Given the description of an element on the screen output the (x, y) to click on. 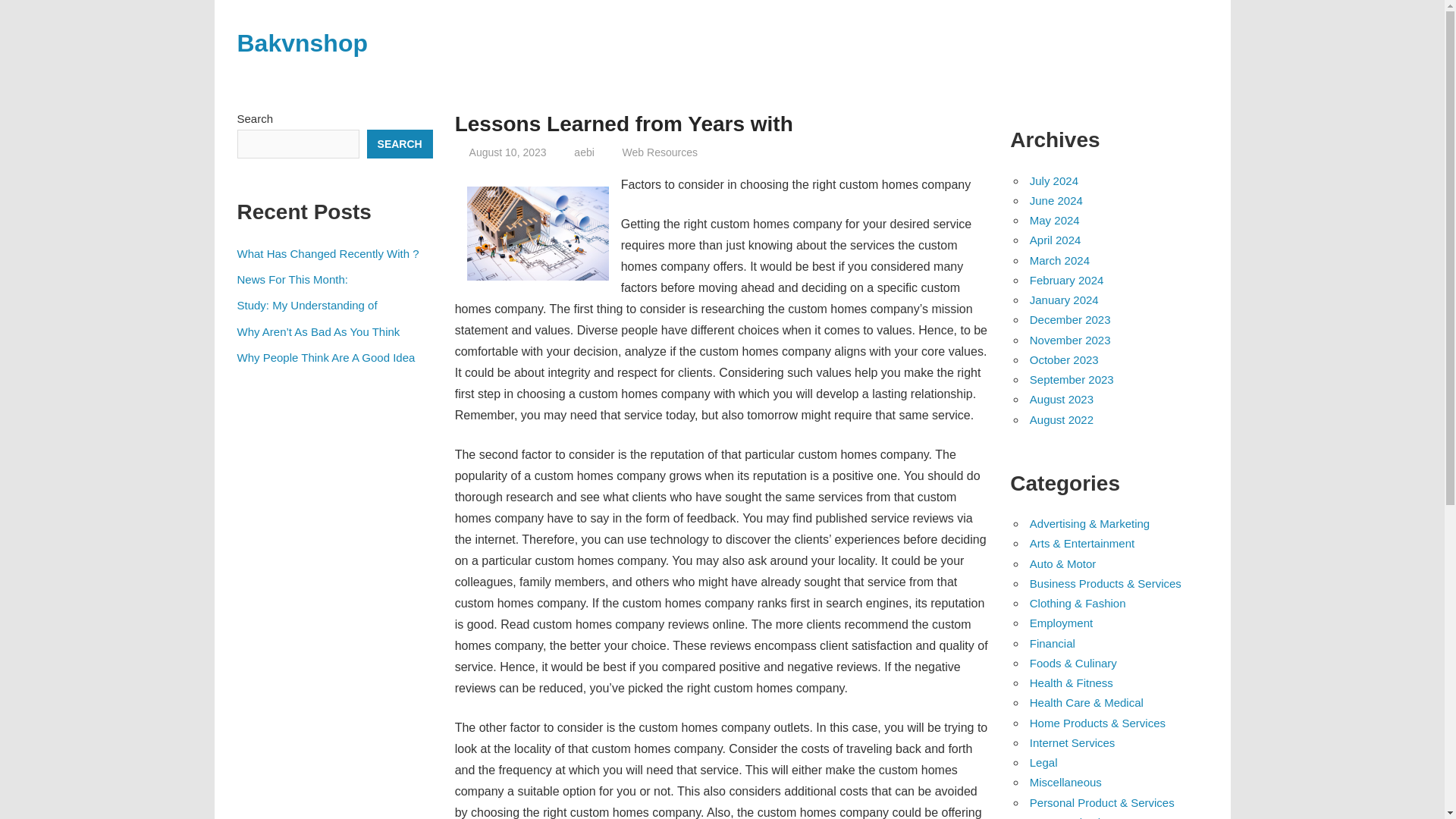
December 2023 (1069, 318)
Internet Services (1072, 742)
View all posts by aebi (583, 152)
SEARCH (399, 143)
4:46 am (507, 152)
November 2023 (1069, 339)
aebi (583, 152)
March 2024 (1059, 259)
August 2022 (1061, 419)
October 2023 (1064, 359)
May 2024 (1054, 219)
July 2024 (1053, 180)
Bakvnshop (300, 42)
June 2024 (1056, 200)
January 2024 (1064, 299)
